Given the description of an element on the screen output the (x, y) to click on. 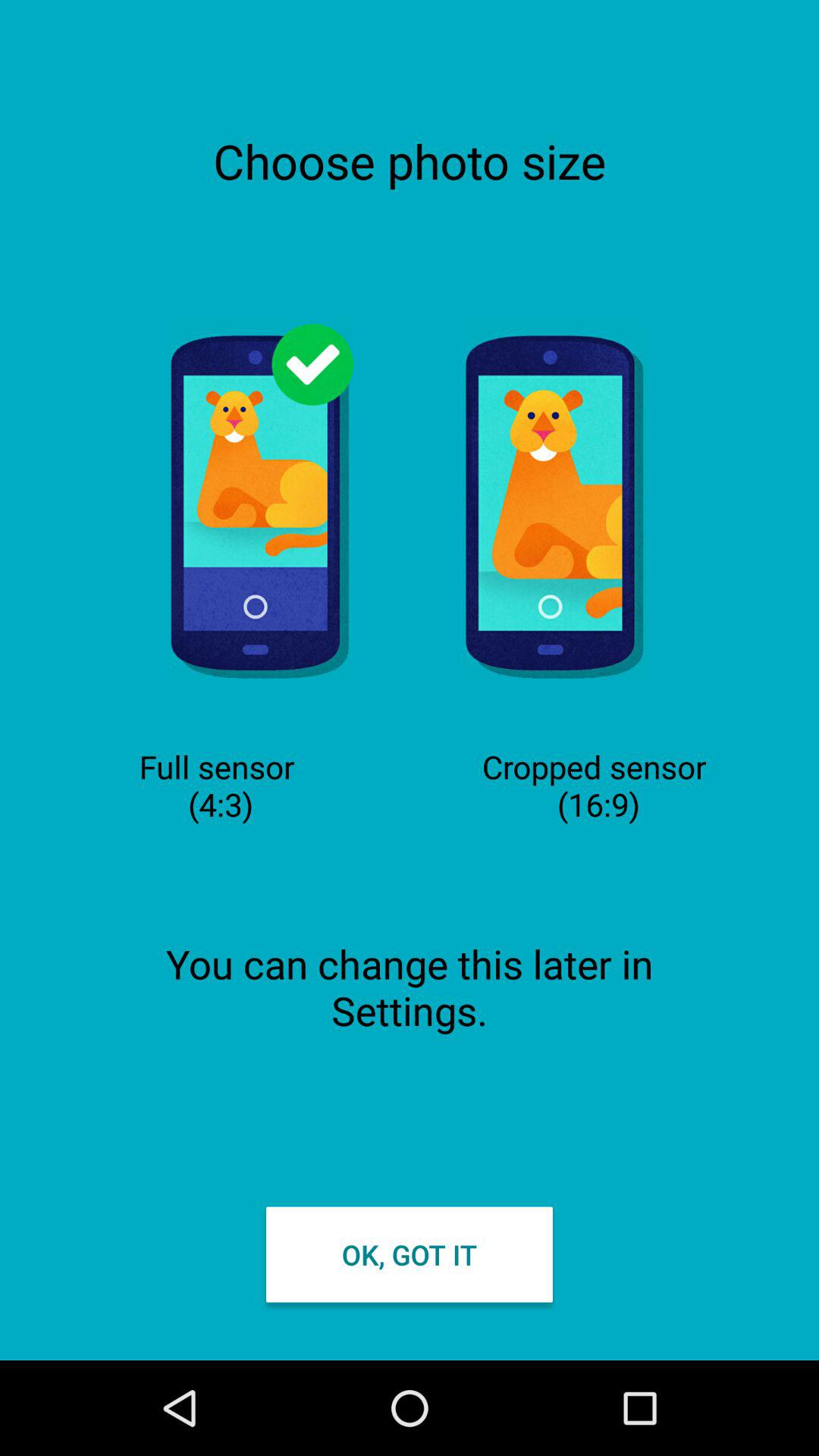
flip to the ok, got it (409, 1254)
